Given the description of an element on the screen output the (x, y) to click on. 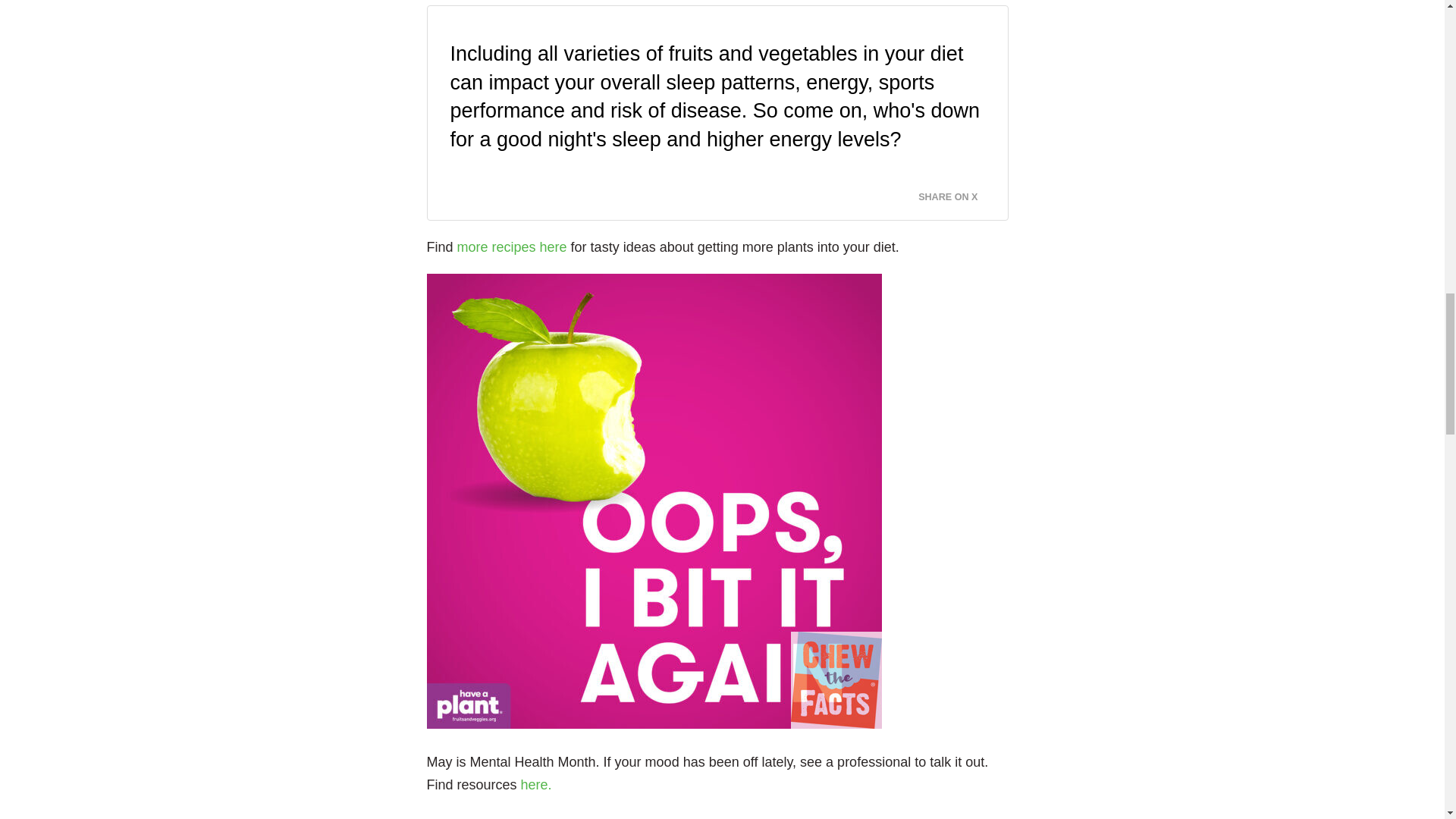
SHARE ON X (956, 192)
more recipes here (512, 246)
here. (536, 784)
